Given the description of an element on the screen output the (x, y) to click on. 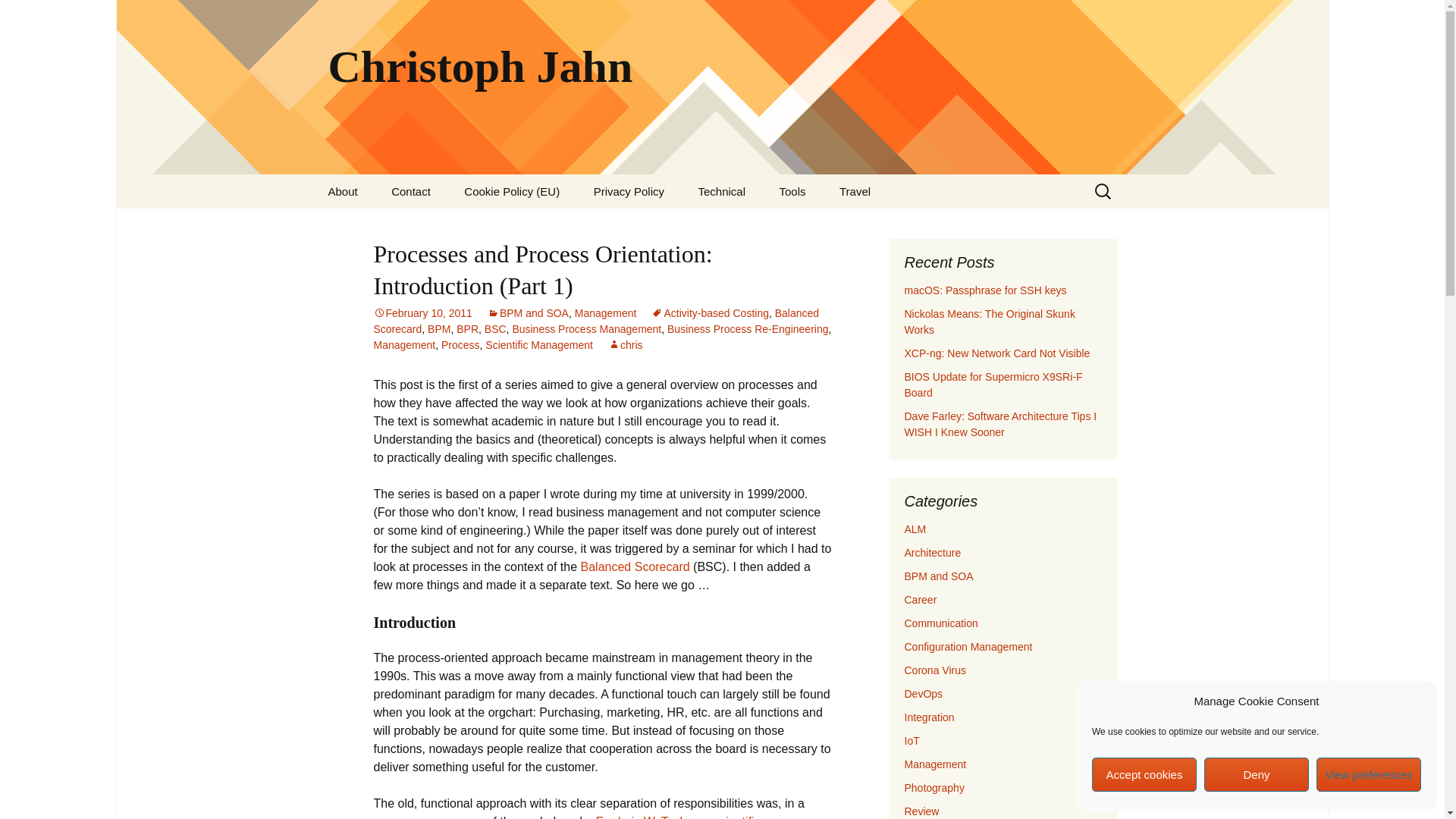
Technical (721, 191)
BPM (438, 328)
Activity-based Costing (709, 313)
Contact (410, 191)
BSC (495, 328)
Tools (791, 191)
February 10, 2011 (421, 313)
Privacy Policy (628, 191)
BPR (468, 328)
Search (18, 15)
